Given the description of an element on the screen output the (x, y) to click on. 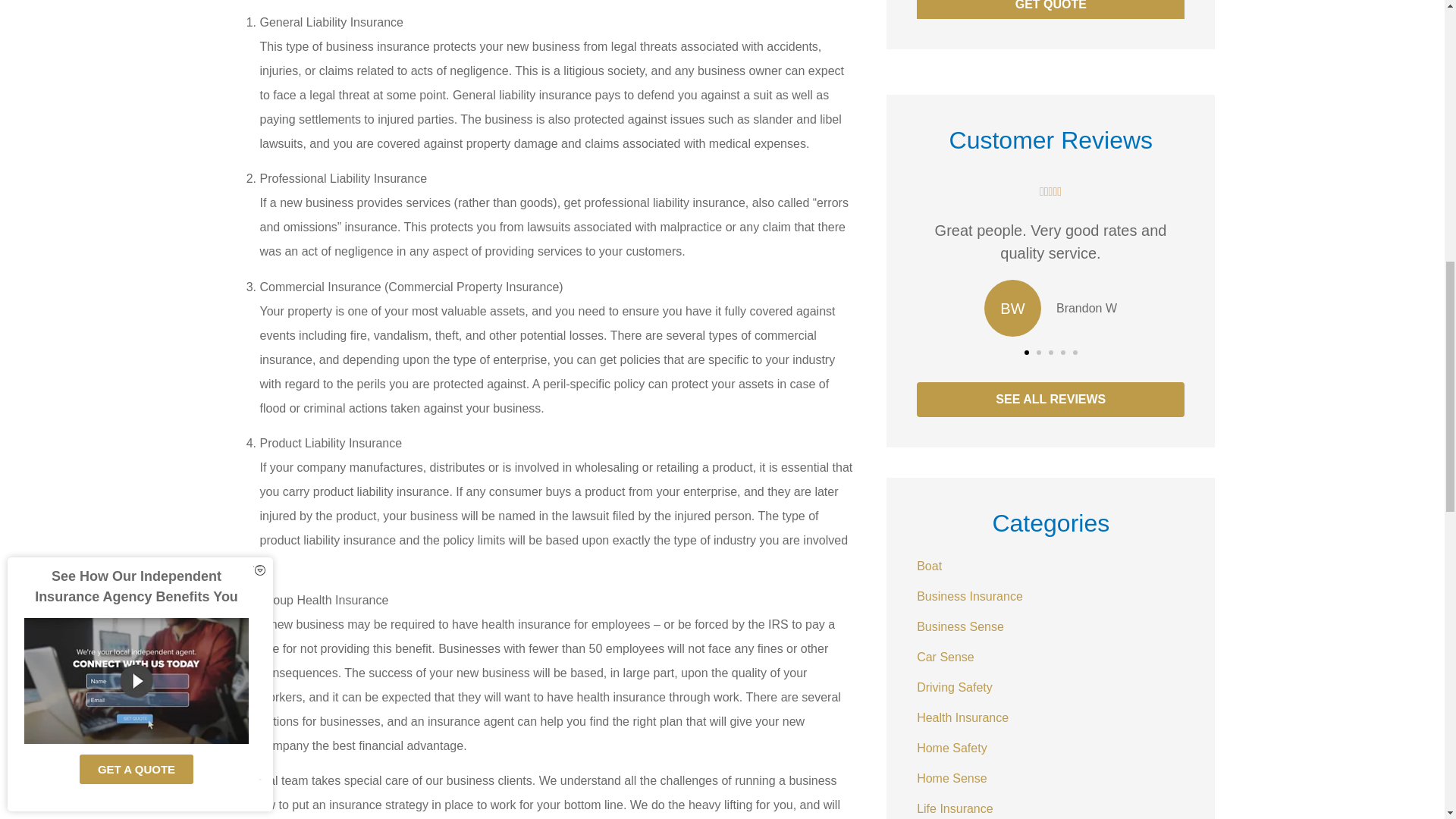
Get Quote (1051, 9)
